Given the description of an element on the screen output the (x, y) to click on. 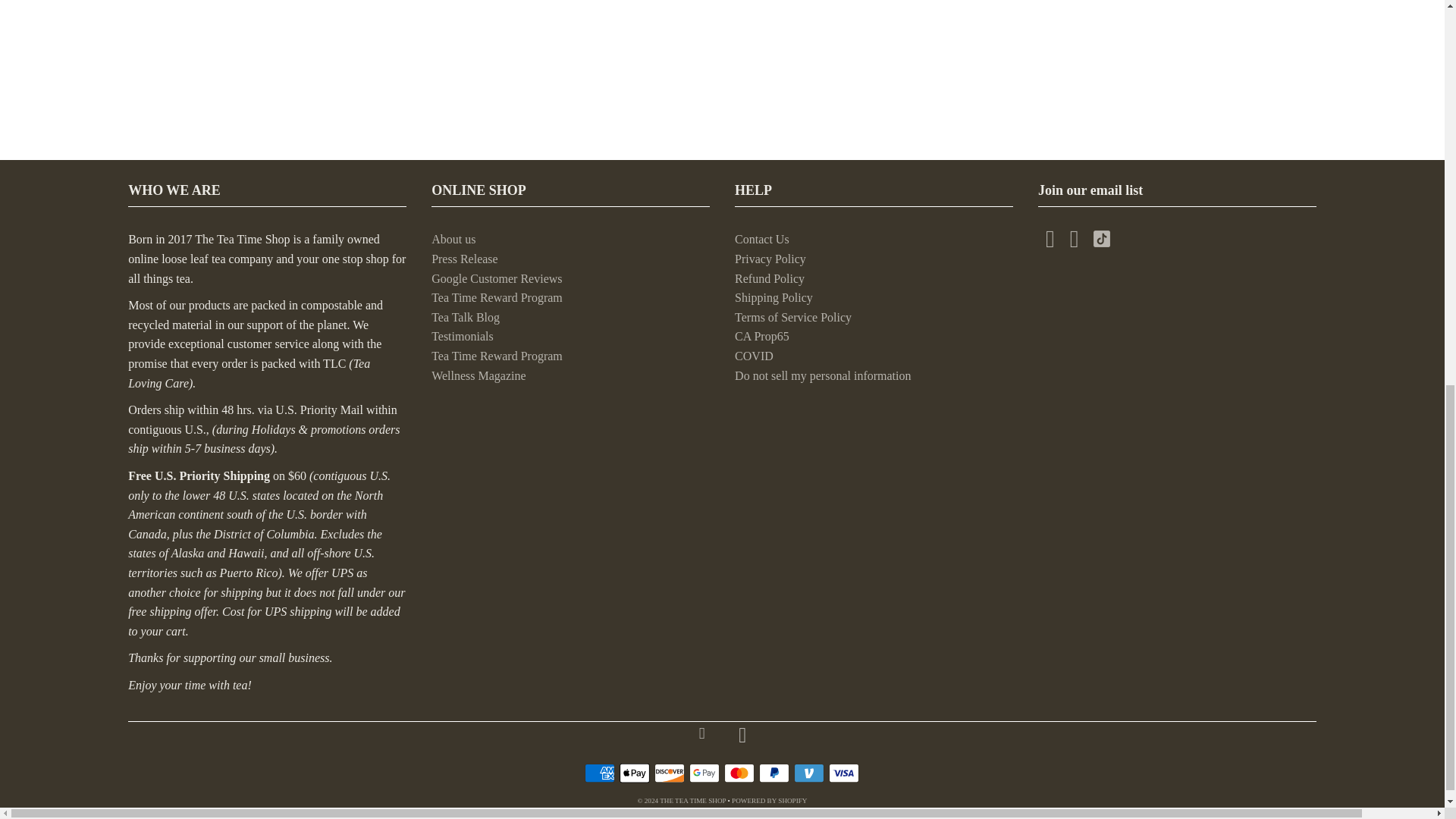
About us (453, 238)
Google Pay (703, 772)
Mastercard (738, 772)
Tea Talk Blog (464, 317)
Venmo (808, 772)
Press Release (463, 258)
CA Prop65 (762, 336)
Testimonials (461, 336)
American Express (599, 772)
Wellness Magazine (477, 375)
Contact Us (762, 238)
Discover (668, 772)
Do not sell my personal information (823, 375)
COVID (754, 355)
Shipping Policy (773, 297)
